Given the description of an element on the screen output the (x, y) to click on. 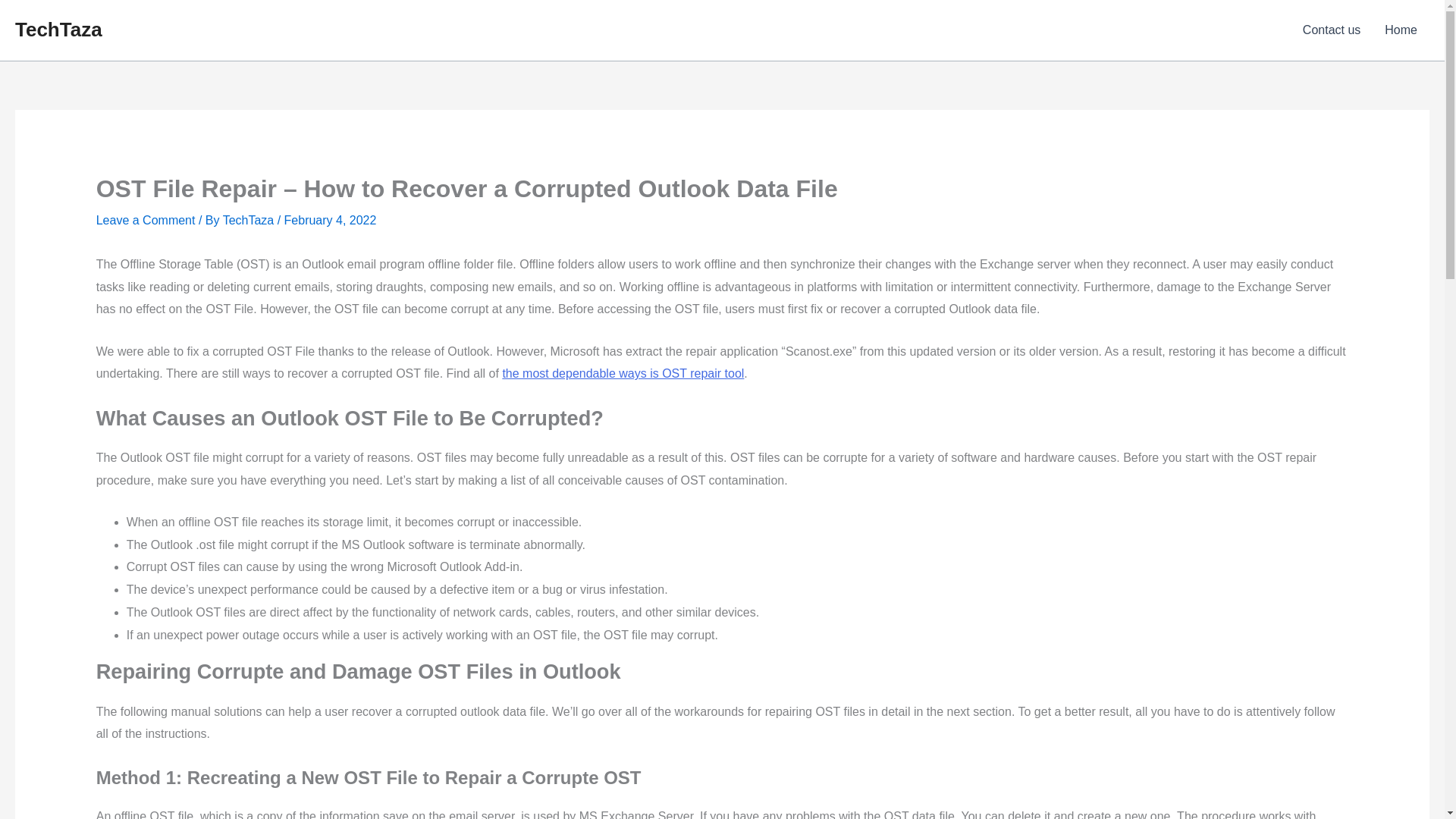
Leave a Comment (145, 219)
TechTaza (57, 29)
TechTaza (250, 219)
the most dependable ways is OST repair tool (623, 373)
Home (1401, 30)
Contact us (1331, 30)
View all posts by TechTaza (250, 219)
